Given the description of an element on the screen output the (x, y) to click on. 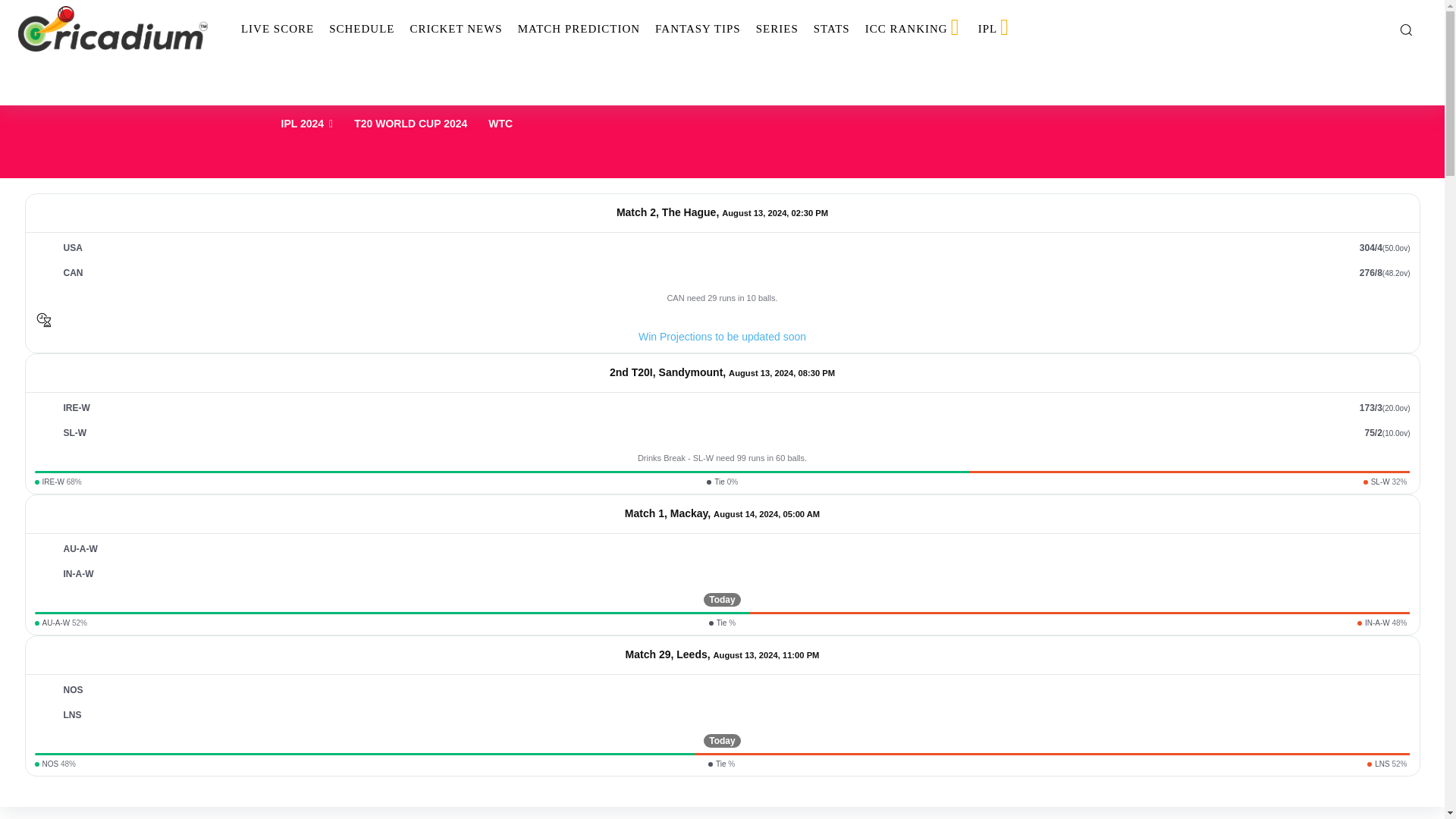
CRICKET NEWS (455, 28)
FANTASY TIPS (697, 28)
SCHEDULE (361, 28)
ICC RANKING (914, 28)
LIVE SCORE (276, 28)
IPL (995, 28)
SERIES (777, 28)
MATCH PREDICTION (579, 28)
Cricadium (112, 28)
STATS (831, 28)
